Given the description of an element on the screen output the (x, y) to click on. 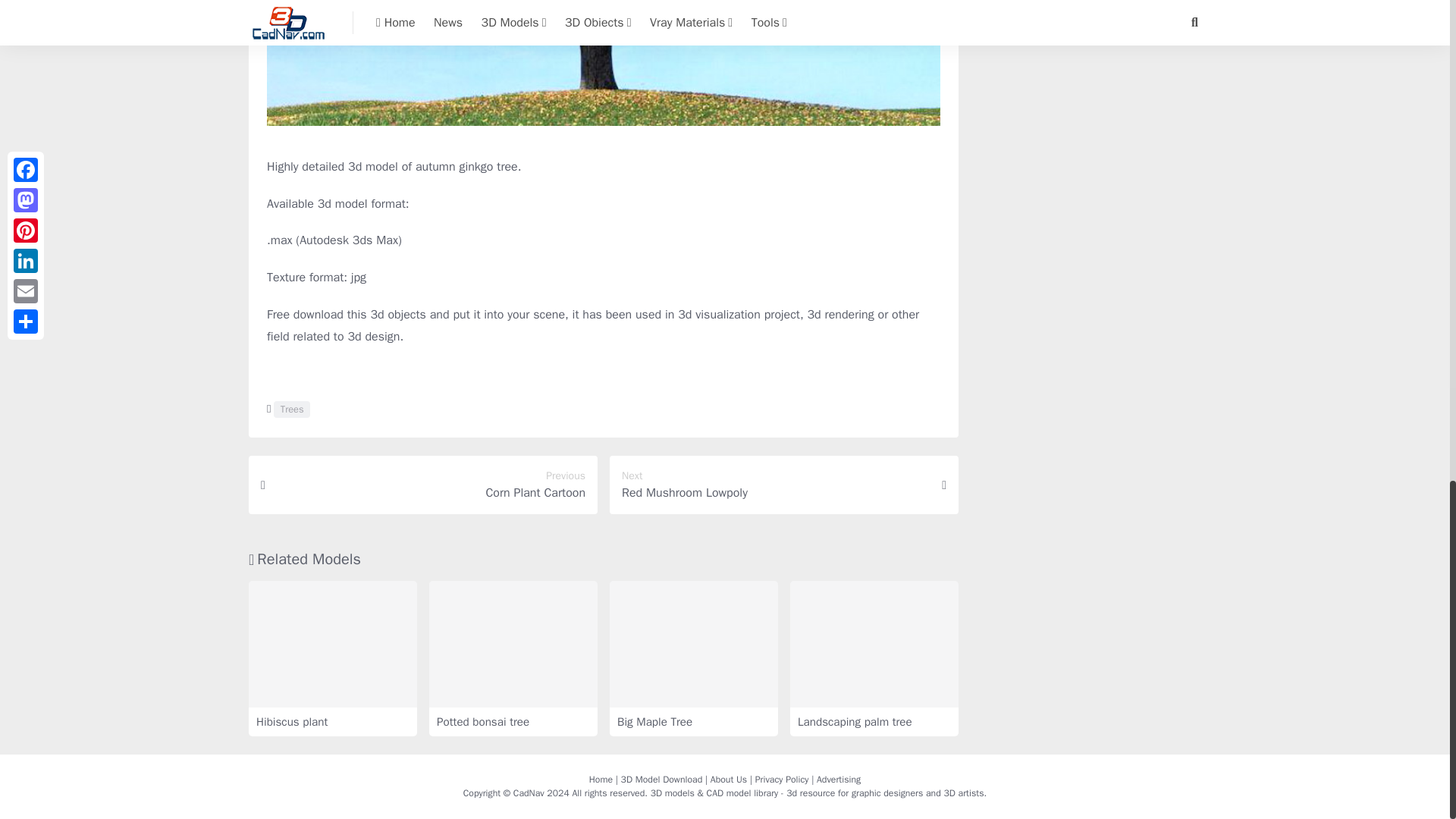
Trees 3d model (290, 409)
Big Maple Tree 3d model download (693, 643)
Hibiscus plant 3d model download (332, 643)
Potted bonsai tree 3d model download (512, 643)
Landscaping palm tree 3d model download (874, 643)
